Given the description of an element on the screen output the (x, y) to click on. 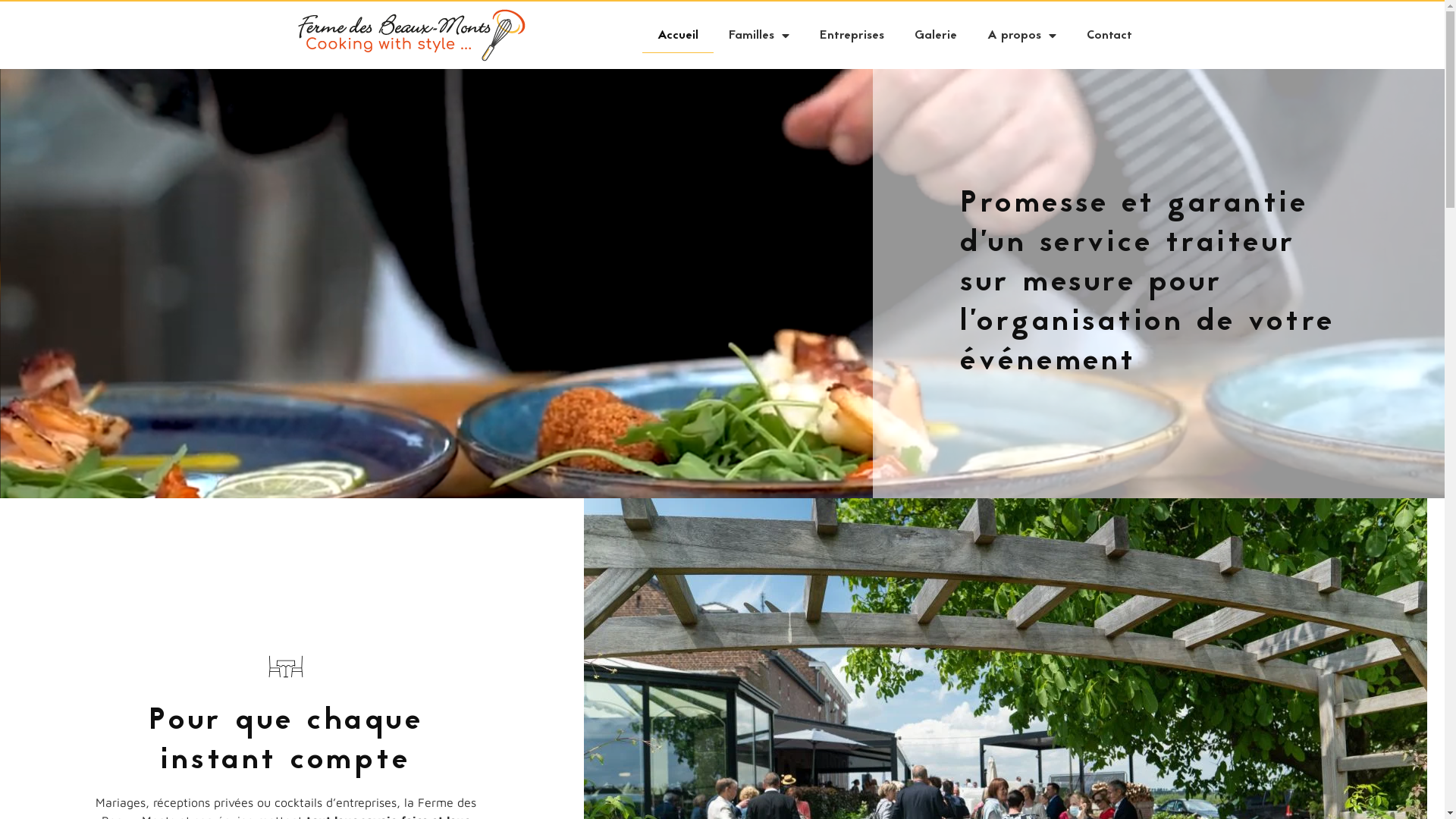
A propos Element type: text (1021, 35)
Accueil Element type: text (676, 35)
Entreprises Element type: text (850, 35)
Familles Element type: text (757, 35)
Galerie Element type: text (935, 35)
Contact Element type: text (1108, 35)
